Given the description of an element on the screen output the (x, y) to click on. 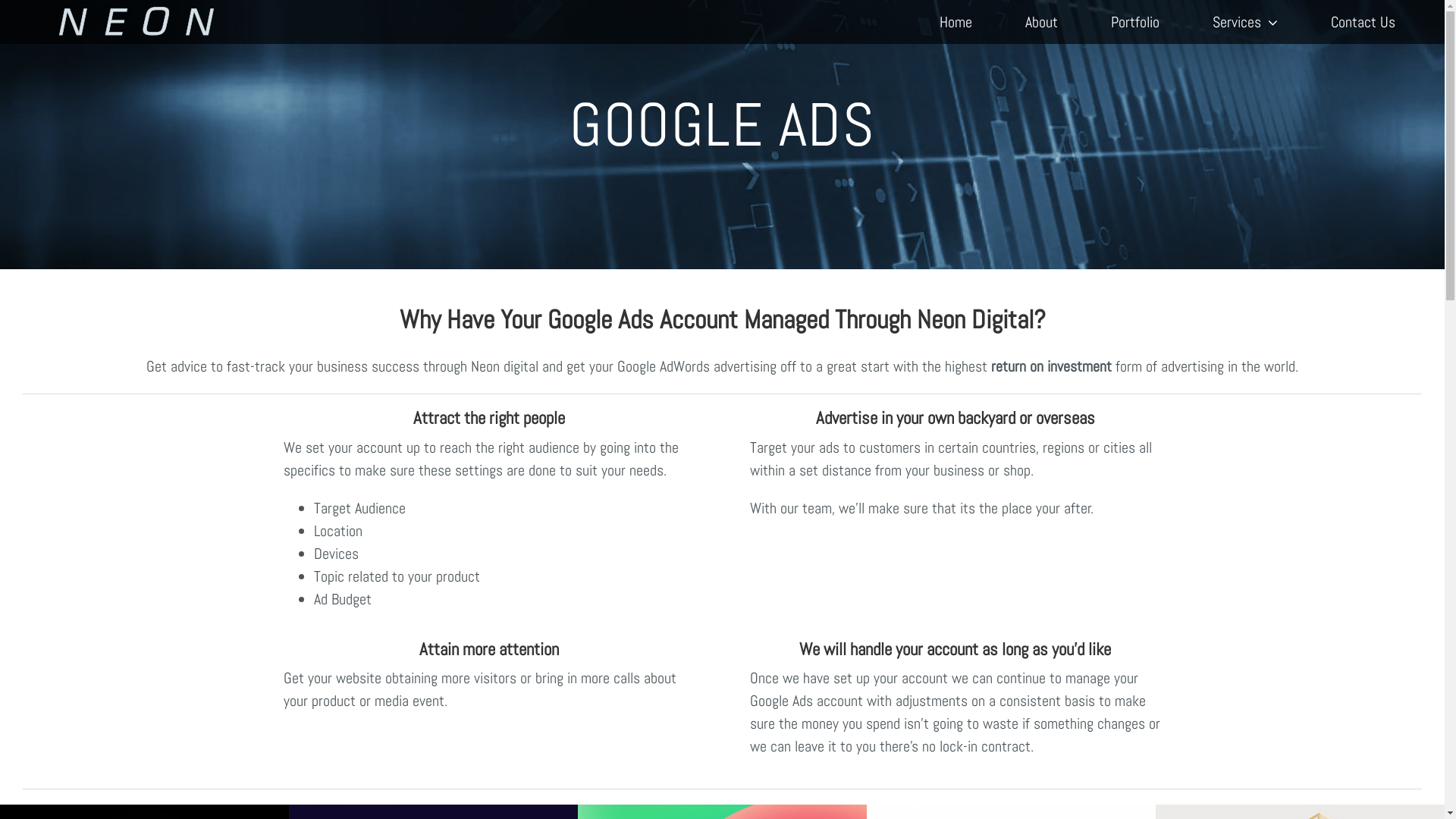
Contact Us Element type: text (1362, 21)
Services Element type: text (1245, 21)
Portfolio Element type: text (1135, 21)
About Element type: text (1041, 21)
Home Element type: text (955, 21)
